Given the description of an element on the screen output the (x, y) to click on. 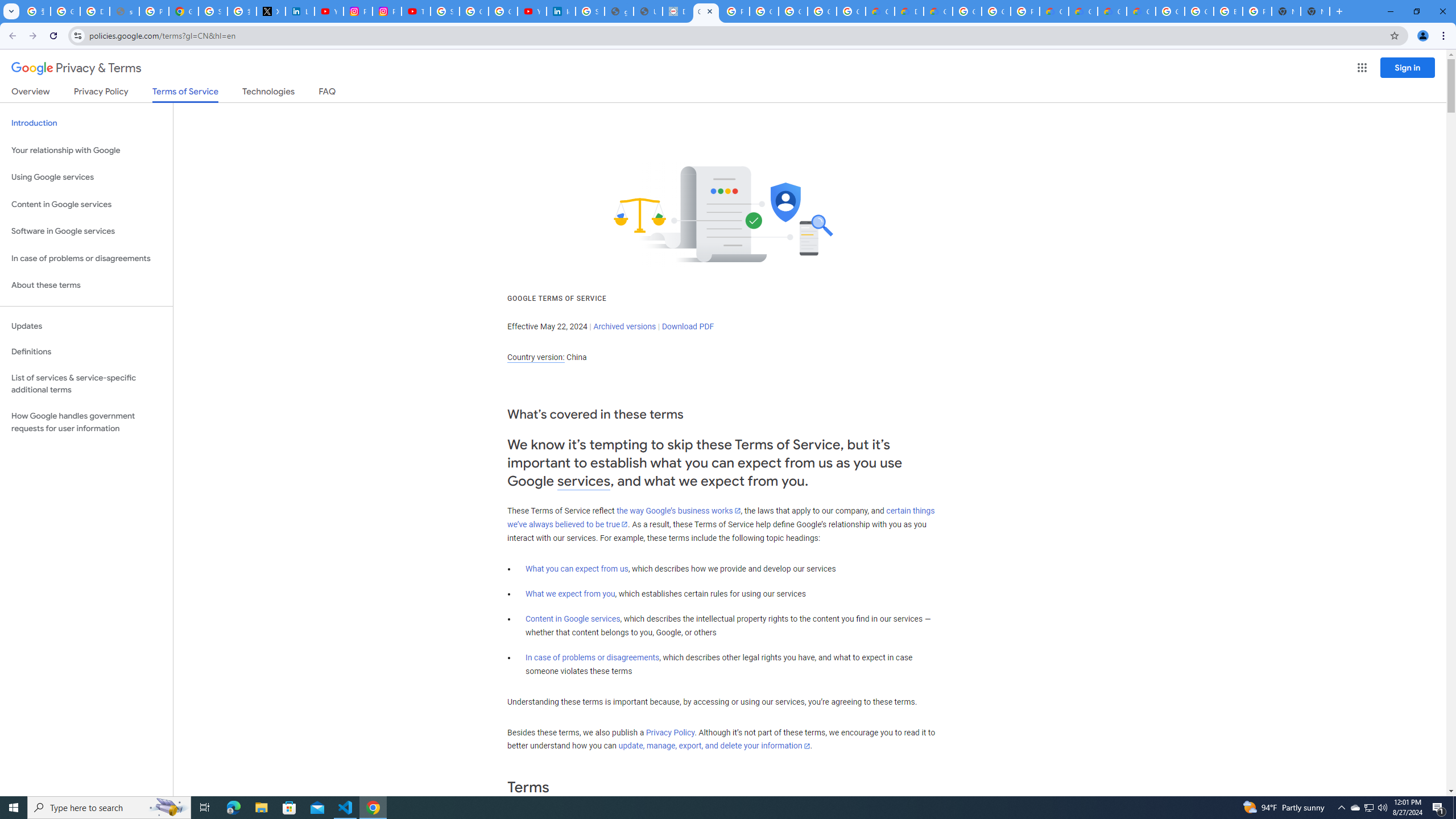
What we expect from you (570, 593)
New Tab (1315, 11)
services (583, 480)
google_privacy_policy_en.pdf (619, 11)
Customer Care | Google Cloud (1054, 11)
Google Cloud Service Health (1140, 11)
update, manage, export, and delete your information (714, 746)
Sign in - Google Accounts (444, 11)
